Given the description of an element on the screen output the (x, y) to click on. 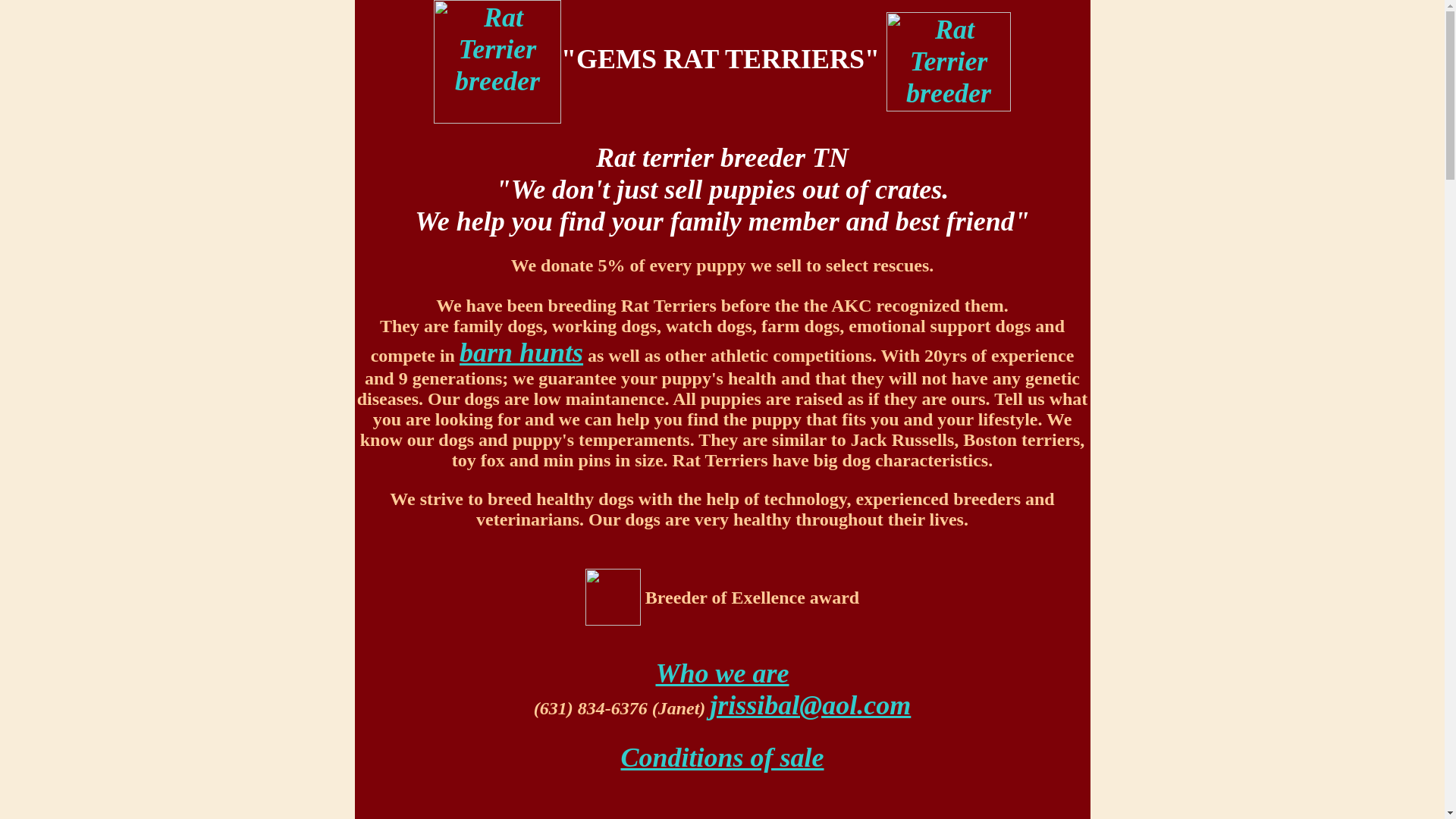
barn hunts (521, 352)
Who we are (722, 673)
Conditions of sale (722, 757)
